Given the description of an element on the screen output the (x, y) to click on. 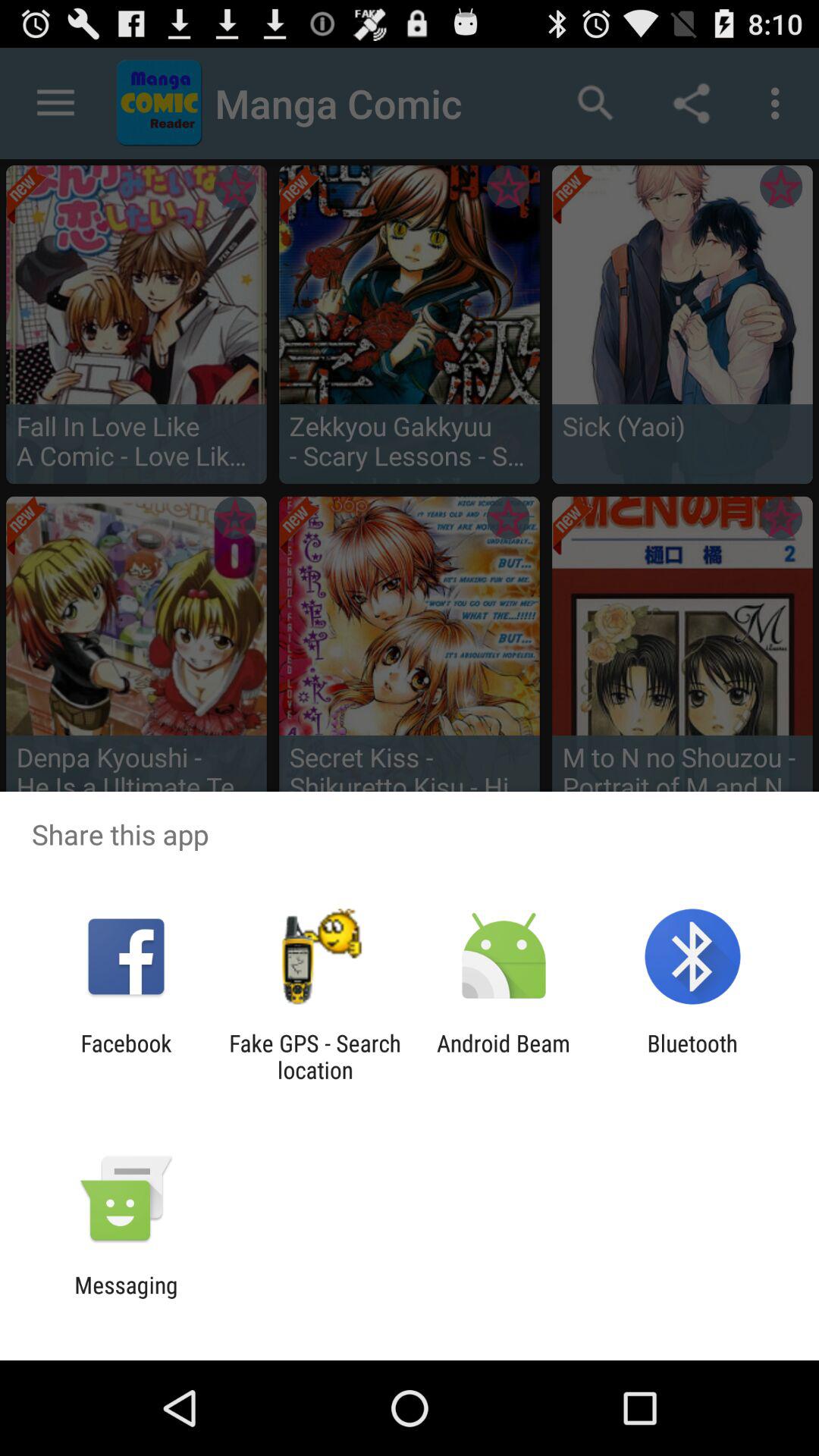
tap the app to the left of the bluetooth icon (503, 1056)
